Given the description of an element on the screen output the (x, y) to click on. 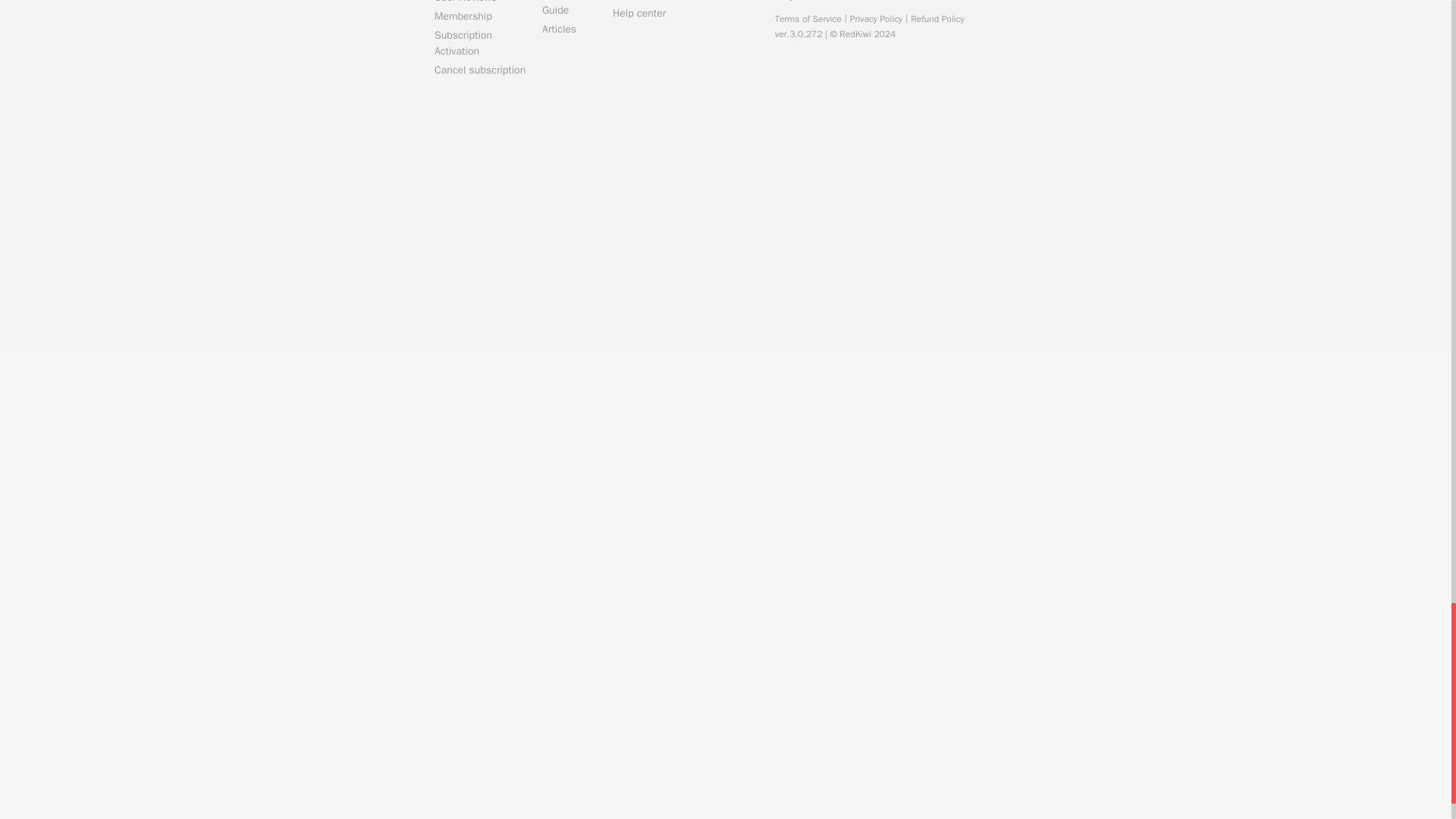
User Reviews (480, 2)
